Given the description of an element on the screen output the (x, y) to click on. 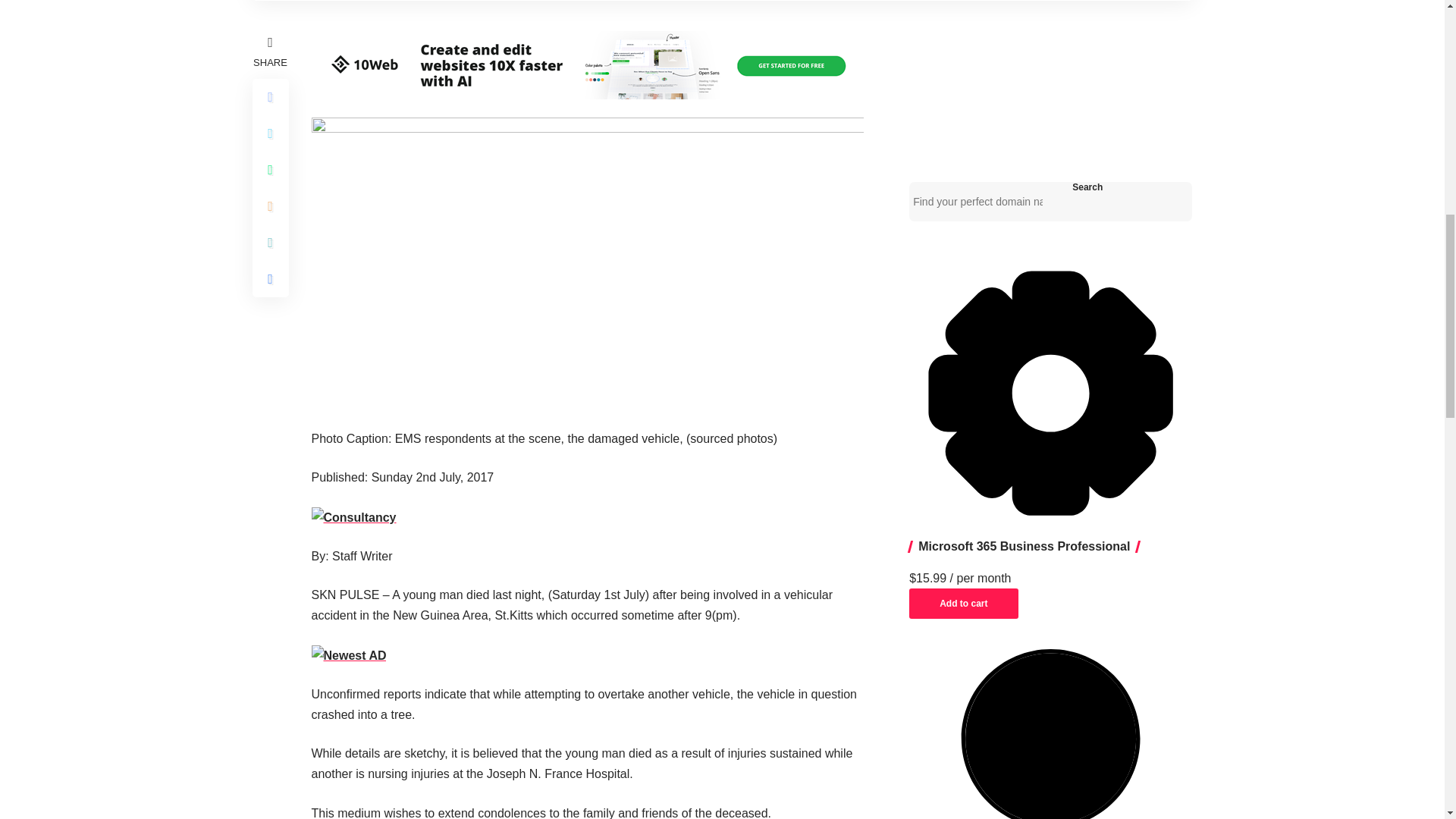
WordPress (1050, 734)
Search (1087, 186)
Search (1087, 186)
Additional Products (1050, 392)
